Given the description of an element on the screen output the (x, y) to click on. 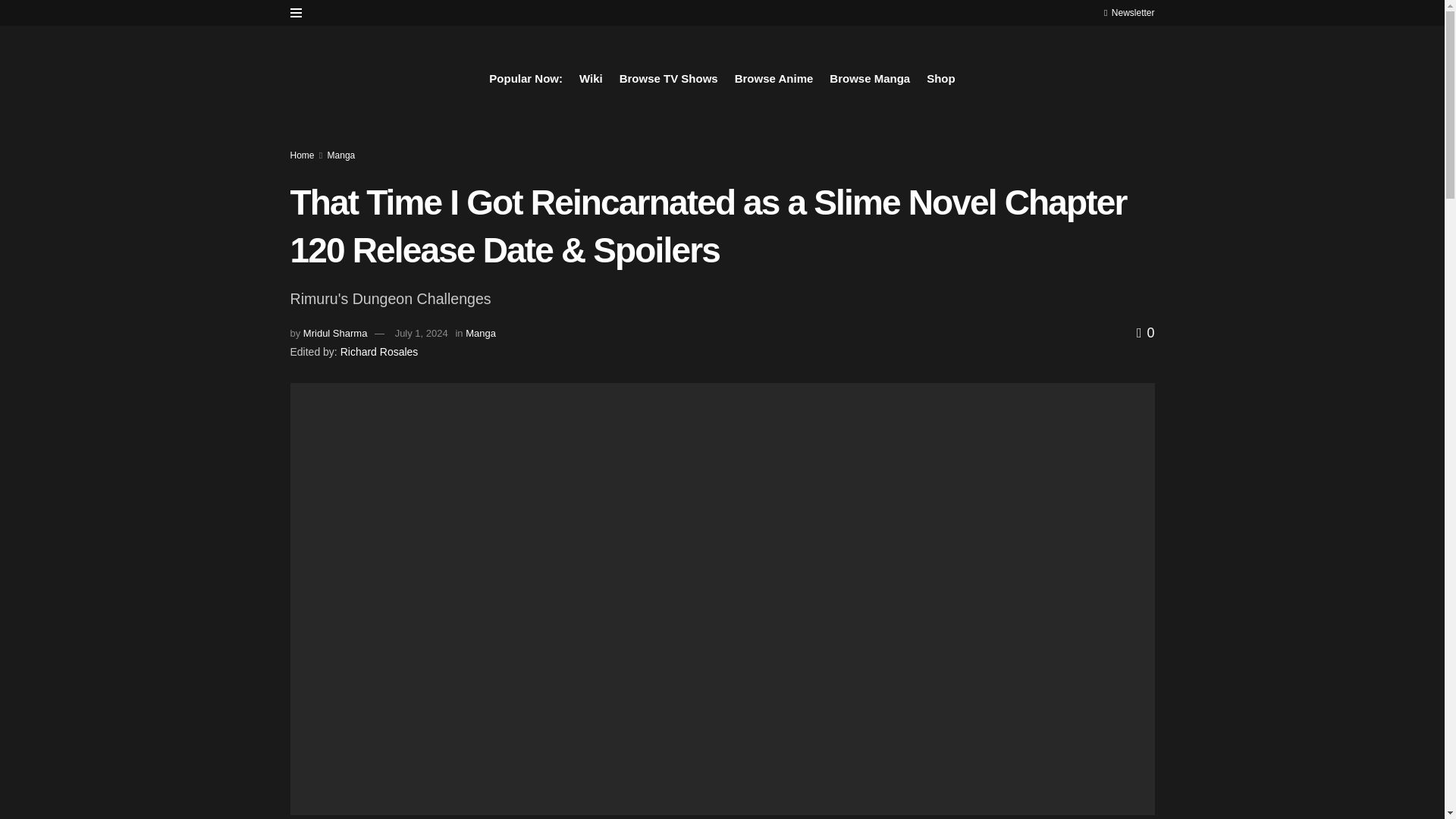
Mridul Sharma (335, 333)
Richard Rosales (379, 351)
Manga (480, 333)
Newsletter (1128, 12)
0 (1145, 332)
Browse TV Shows (668, 78)
Browse Anime (774, 78)
Manga (341, 154)
Home (301, 154)
Popular Now: (525, 78)
